Given the description of an element on the screen output the (x, y) to click on. 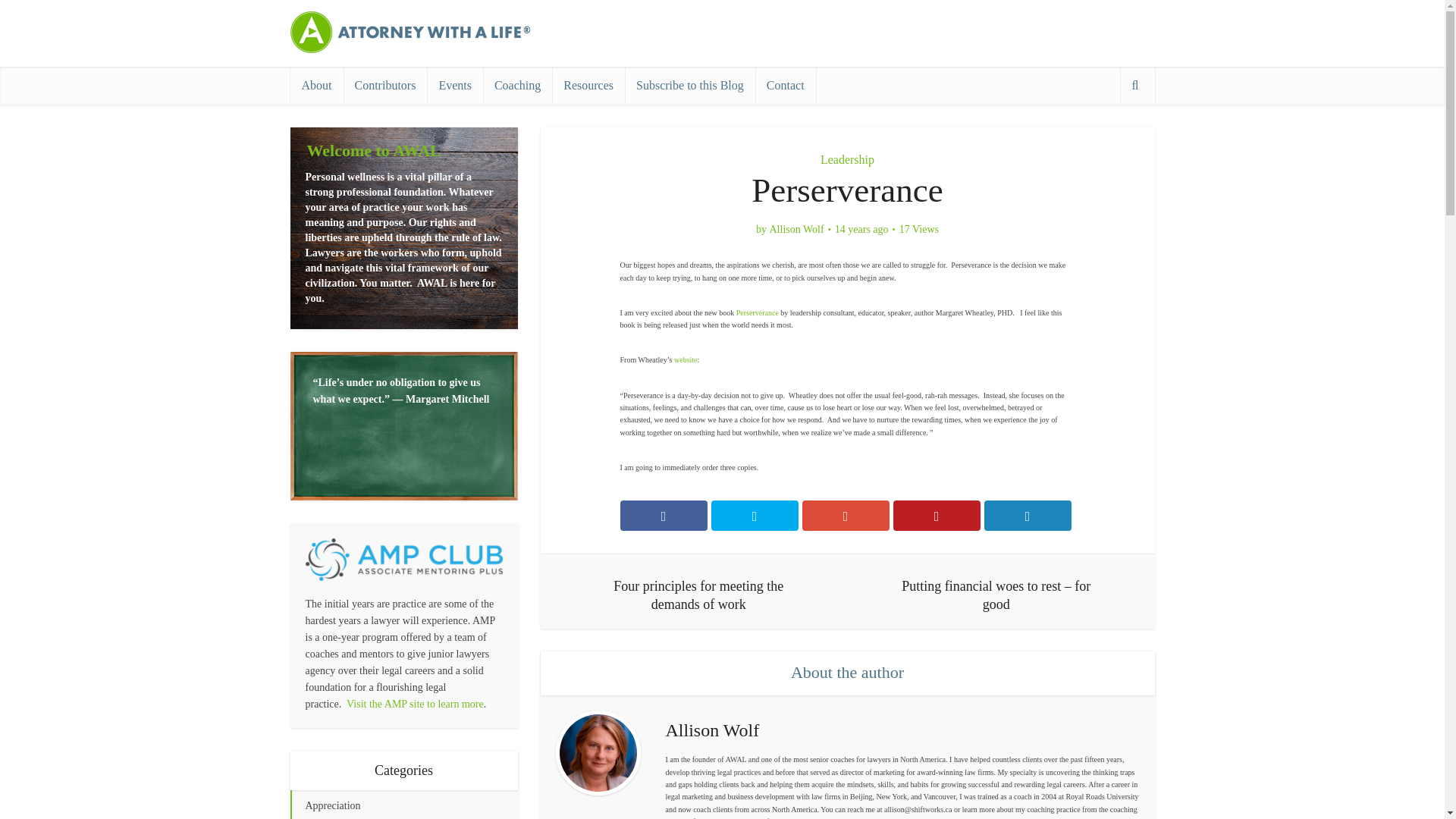
Contributors (384, 85)
Subscribe to this Blog (689, 85)
Contact (785, 85)
Visit the AMP site to learn more (414, 704)
About (315, 85)
Coaching (517, 85)
Appreciation (402, 804)
Attorney With a Life (410, 32)
Resources (587, 85)
Events (454, 85)
